Given the description of an element on the screen output the (x, y) to click on. 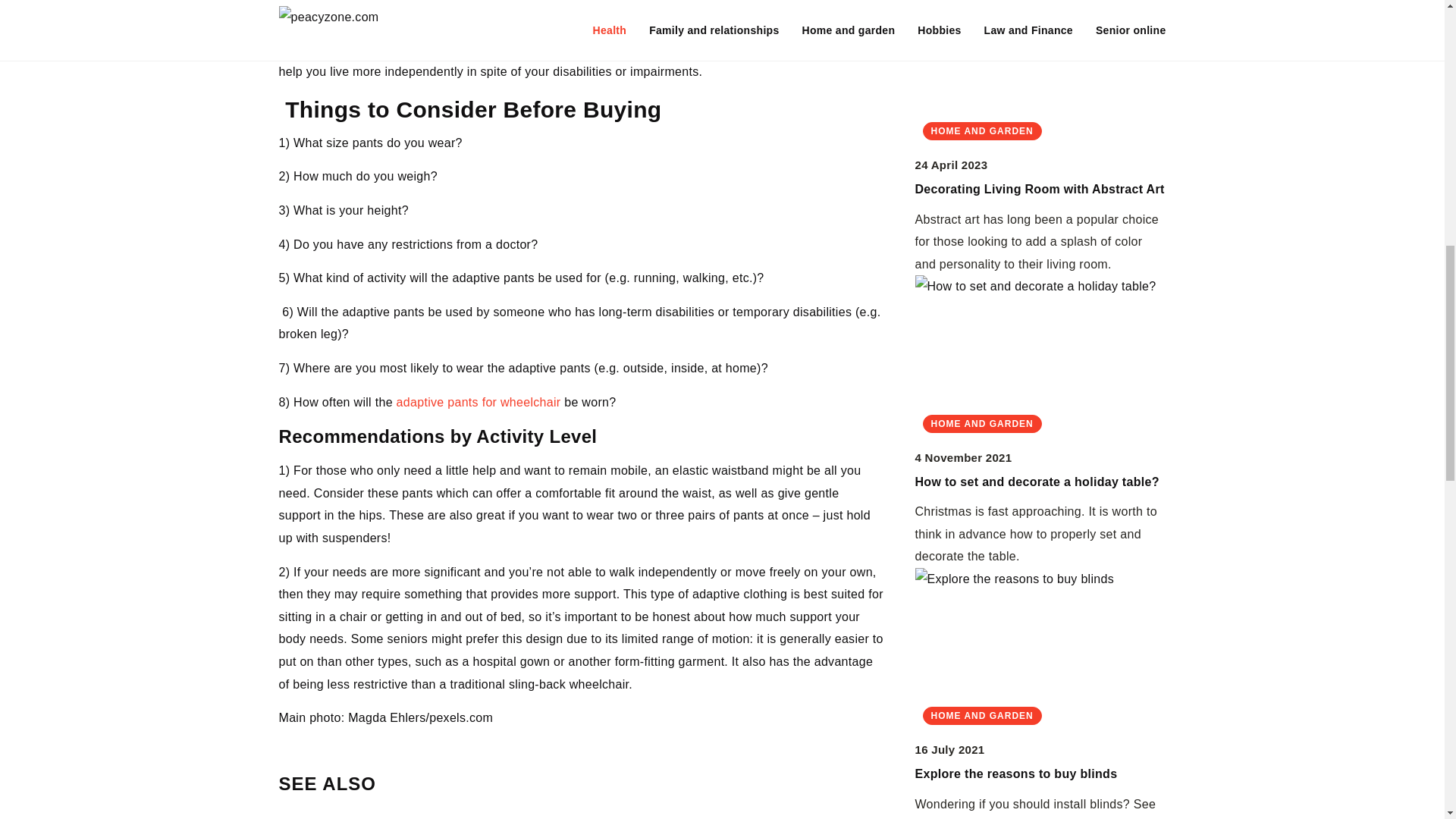
Explore the reasons to buy blinds (1015, 773)
How to set and decorate a holiday table? (1036, 481)
adaptive pants for wheelchair (478, 401)
Decorating Living Room with Abstract Art (1038, 188)
